Given the description of an element on the screen output the (x, y) to click on. 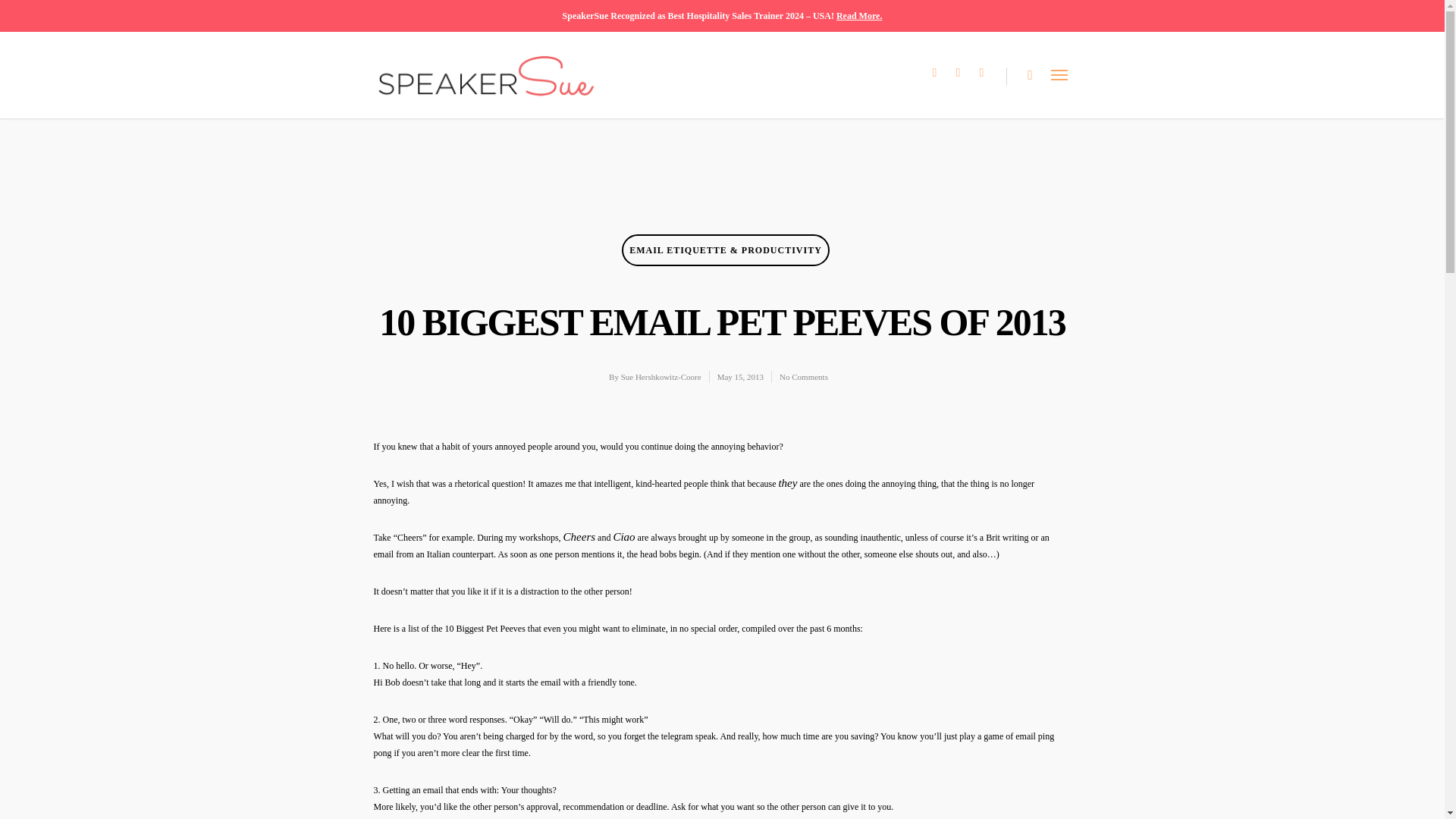
CONTACT (1015, 686)
HOME (407, 503)
EMAIL SALES TRAINING (448, 595)
Sue Hershkowitz-Coore (661, 376)
No Comments (803, 376)
BLOG (1038, 503)
HOW TO SAY IT TO SELL IT (967, 631)
BOOK SUE (431, 649)
ABOUT SUE (438, 540)
POWER SALES WRITING (990, 558)
Posts by Sue Hershkowitz-Coore (661, 376)
